Given the description of an element on the screen output the (x, y) to click on. 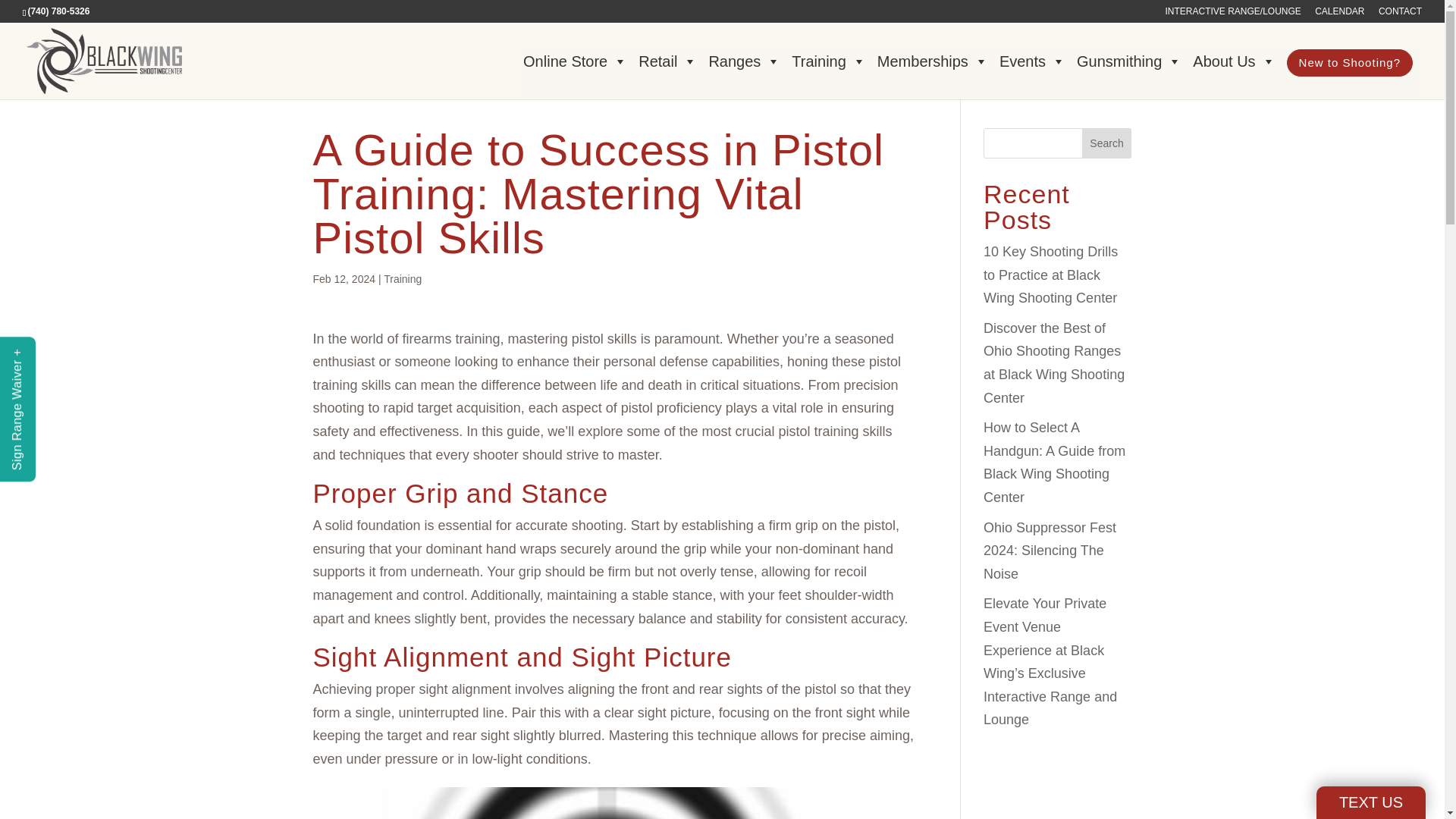
TEXT US (1370, 802)
Online Store (576, 60)
CONTACT (1400, 14)
rao-sight-alignment-front-sight (614, 803)
Training (830, 60)
Retail (669, 60)
CALENDAR (1339, 14)
Search (1106, 142)
Ranges (745, 60)
